Given the description of an element on the screen output the (x, y) to click on. 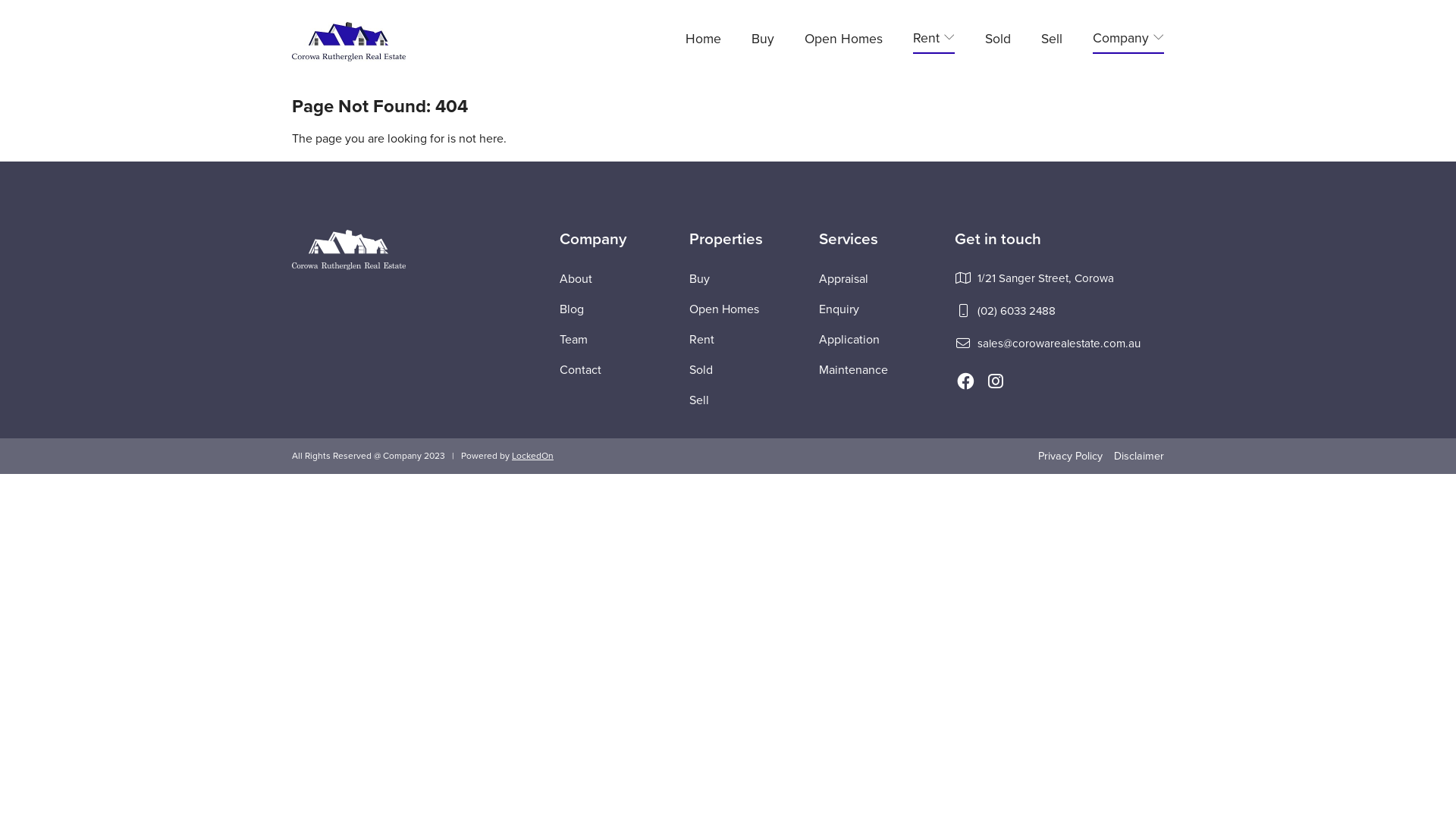
Sell Element type: text (1051, 41)
Appraisal Element type: text (843, 278)
Team Element type: text (573, 339)
Buy Element type: text (699, 278)
(02) 6033 2488 Element type: text (1016, 310)
Enquiry Element type: text (839, 308)
Blog Element type: text (571, 308)
Sold Element type: text (997, 41)
Sell Element type: text (699, 399)
Contact Element type: text (580, 369)
Application Element type: text (849, 339)
Maintenance Element type: text (853, 369)
Open Homes Element type: text (843, 41)
Open Homes Element type: text (724, 308)
Privacy Policy Element type: text (1070, 455)
Disclaimer Element type: text (1138, 455)
Buy Element type: text (762, 41)
About Element type: text (575, 278)
LockedOn Element type: text (532, 455)
sales@corowarealestate.com.au Element type: text (1058, 343)
Sold Element type: text (700, 369)
Rent Element type: text (701, 339)
Home Element type: text (703, 41)
